Given the description of an element on the screen output the (x, y) to click on. 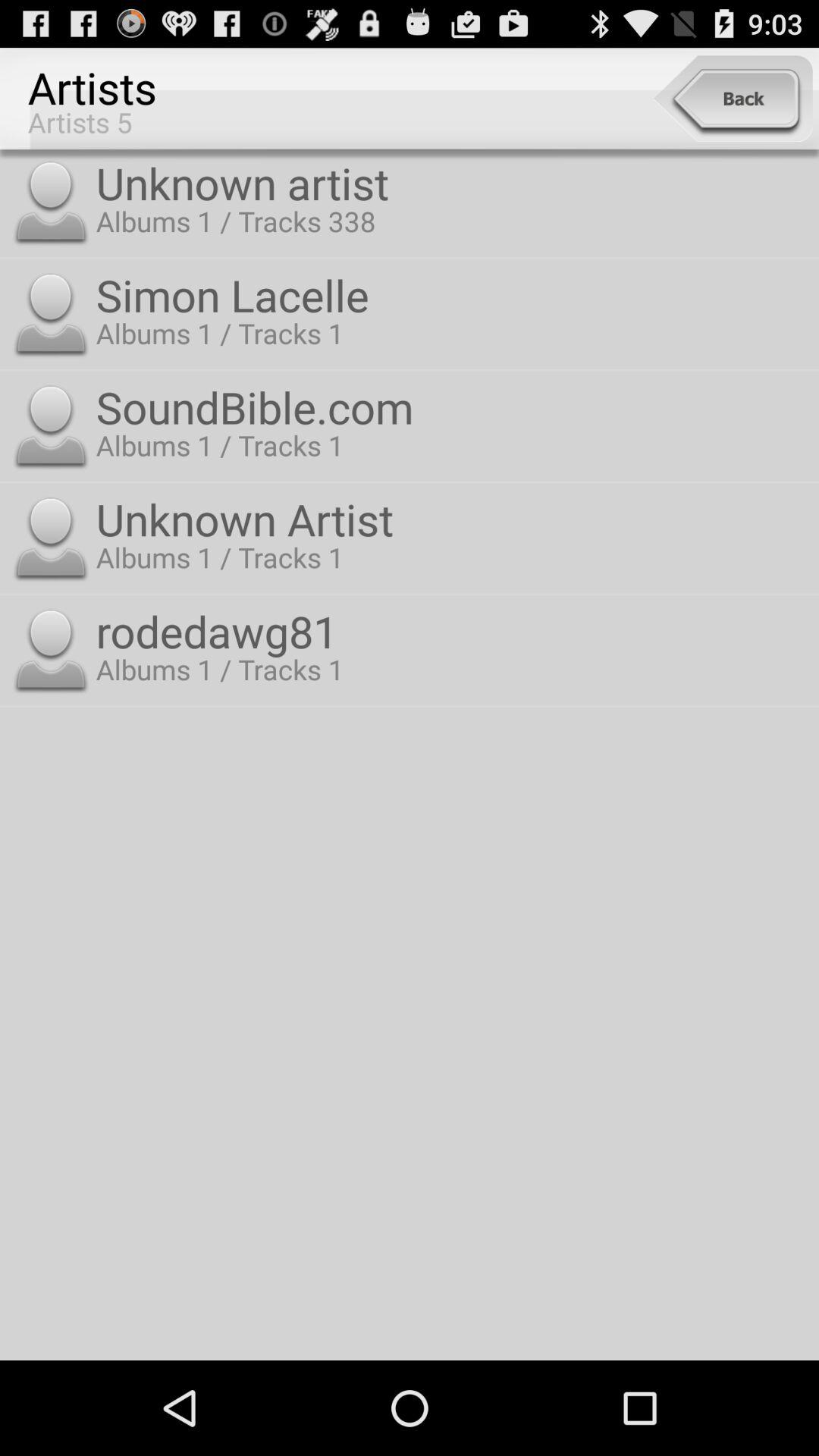
swipe until the simon lacelle item (454, 294)
